Given the description of an element on the screen output the (x, y) to click on. 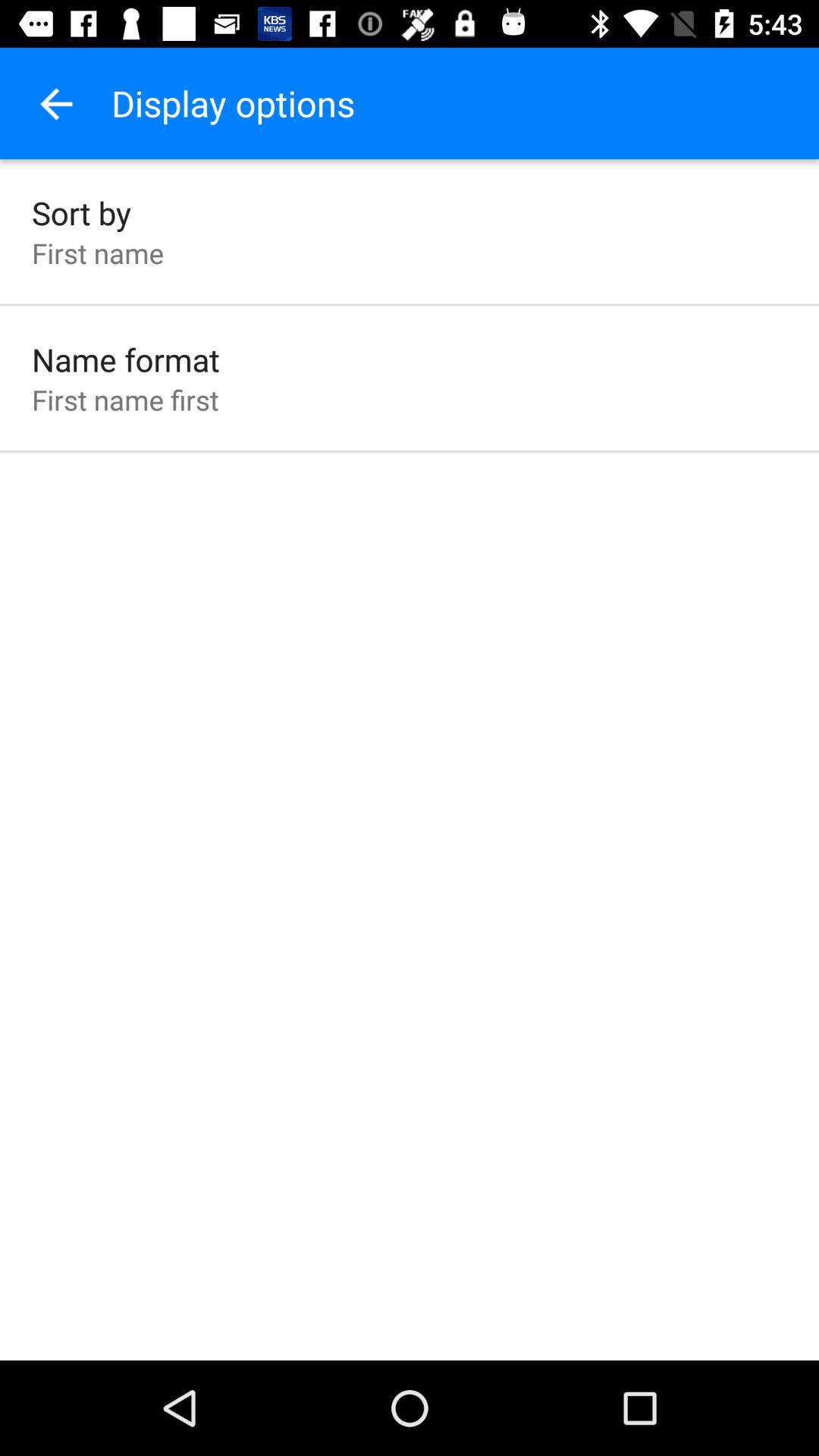
choose item above first name item (81, 212)
